Given the description of an element on the screen output the (x, y) to click on. 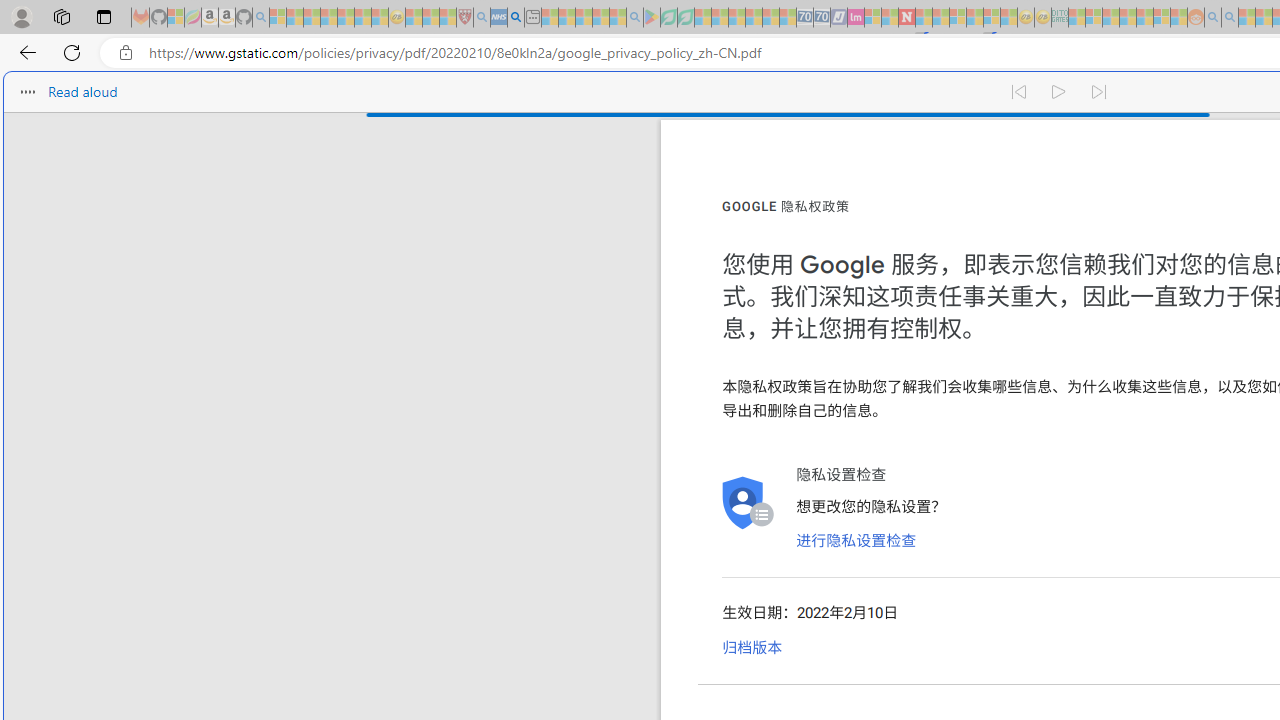
Jobs - lastminute.com Investor Portal - Sleeping (855, 17)
DITOGAMES AG Imprint - Sleeping (1059, 17)
Bluey: Let's Play! - Apps on Google Play - Sleeping (651, 17)
14 Common Myths Debunked By Scientific Facts - Sleeping (940, 17)
Utah sues federal government - Search - Sleeping (1229, 17)
Read previous paragraph (1018, 87)
MSNBC - MSN - Sleeping (1076, 17)
Cheap Hotels - Save70.com - Sleeping (821, 17)
